Given the description of an element on the screen output the (x, y) to click on. 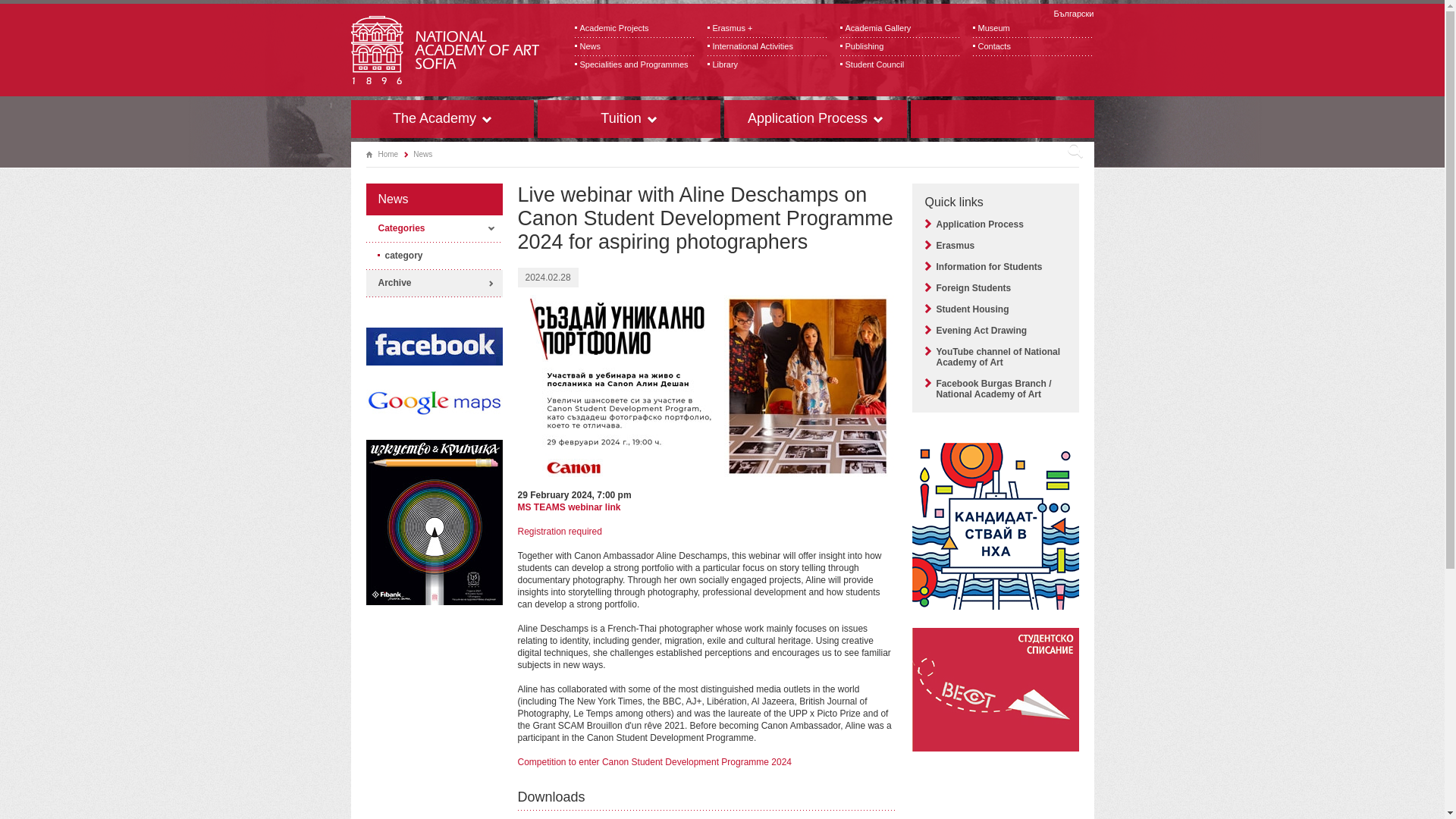
Contacts (1032, 46)
Application Process (814, 118)
International Activities (767, 46)
News (635, 46)
The Academy (441, 118)
Contacts (1032, 46)
Specialities and Programmes (635, 65)
Application Process (814, 118)
Specialities and Programmes (635, 65)
Academic Projects (635, 28)
Academic Projects (635, 28)
Publishing (900, 46)
The Academy (441, 118)
Student Council (900, 65)
